Given the description of an element on the screen output the (x, y) to click on. 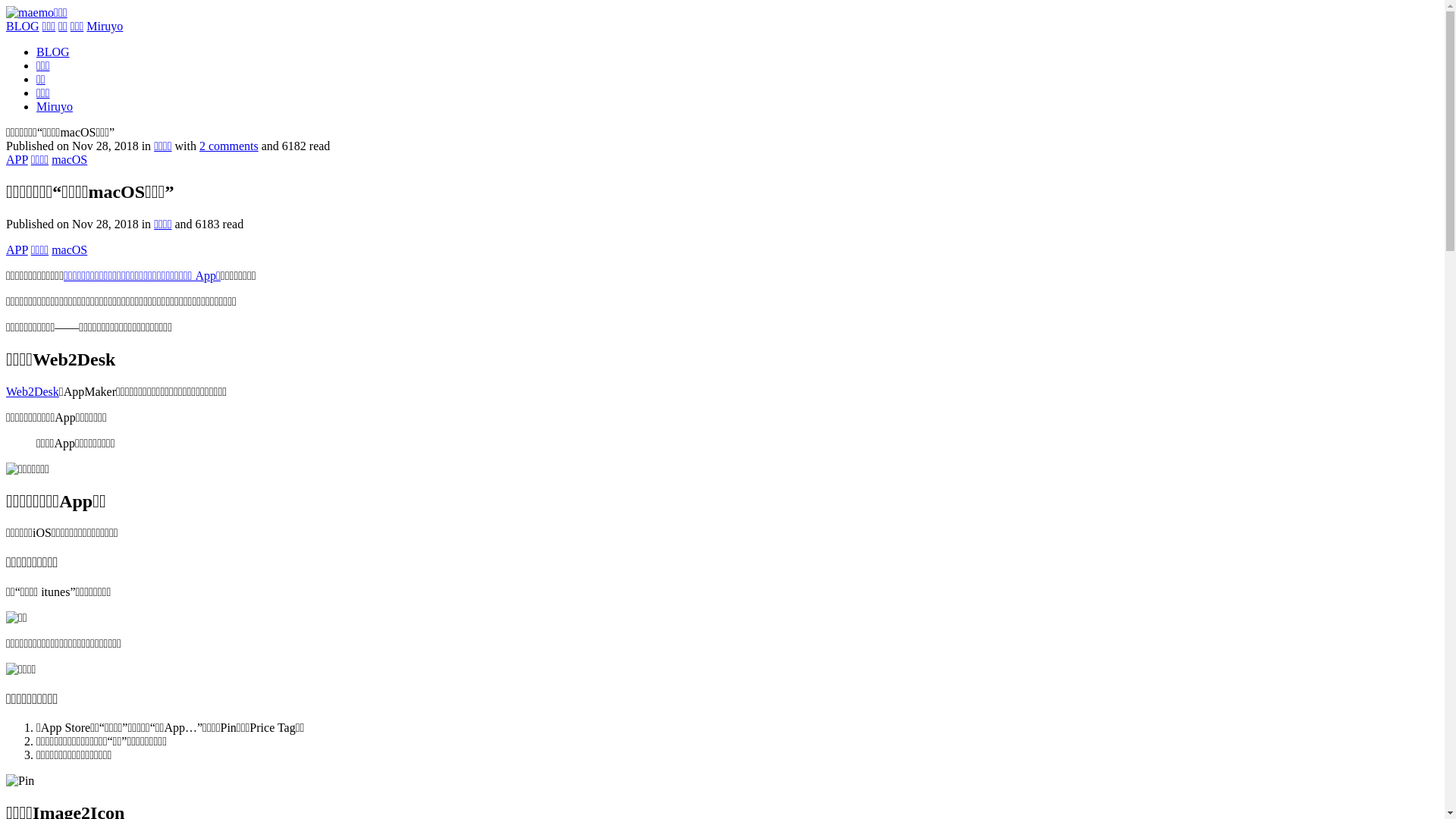
APP Element type: text (17, 249)
Web2Desk Element type: text (32, 391)
Miruyo Element type: text (104, 25)
Pin Element type: hover (20, 780)
BLOG Element type: text (52, 51)
BLOG Element type: text (22, 25)
Miruyo Element type: text (54, 106)
2 comments Element type: text (228, 145)
macOS Element type: text (69, 249)
macOS Element type: text (69, 159)
APP Element type: text (17, 159)
